Given the description of an element on the screen output the (x, y) to click on. 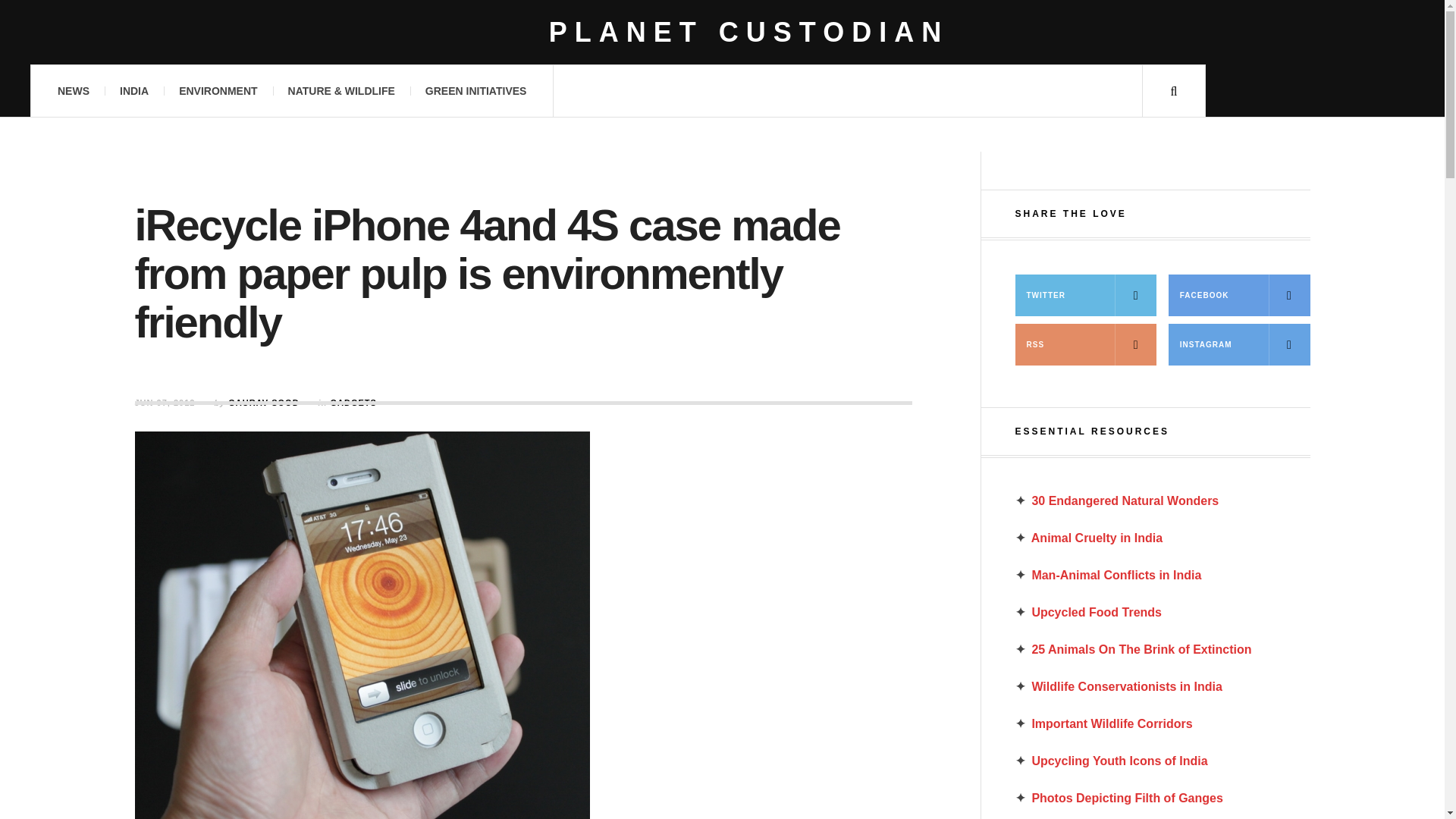
PLANET CUSTODIAN (748, 32)
INDIA (133, 91)
ENVIRONMENT (217, 91)
GREEN INITIATIVES (475, 91)
View all posts in Gadgets (352, 402)
GAURAV SOOD (263, 402)
Planet Custodian (748, 32)
GADGETS (352, 402)
NEWS (73, 91)
